Given the description of an element on the screen output the (x, y) to click on. 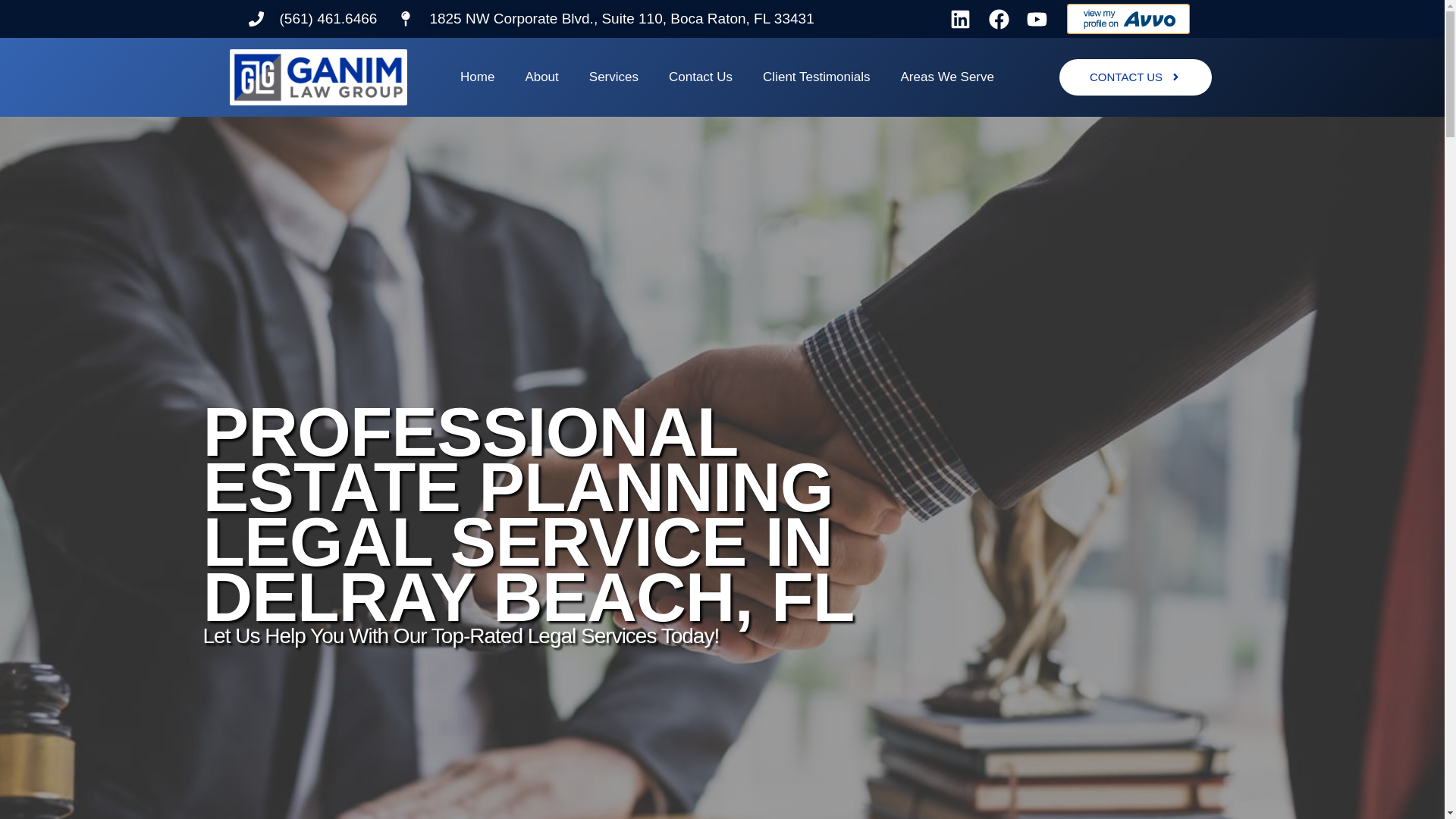
Facebook (998, 18)
Contact Us (700, 77)
Youtube (1037, 18)
Home (477, 77)
About (541, 77)
Areas We Serve (947, 77)
Client Testimonials (816, 77)
Linkedin (959, 18)
CONTACT US (1135, 76)
1825 NW Corporate Blvd., Suite 110, Boca Raton, FL 33431 (605, 18)
Services (613, 77)
